Given the description of an element on the screen output the (x, y) to click on. 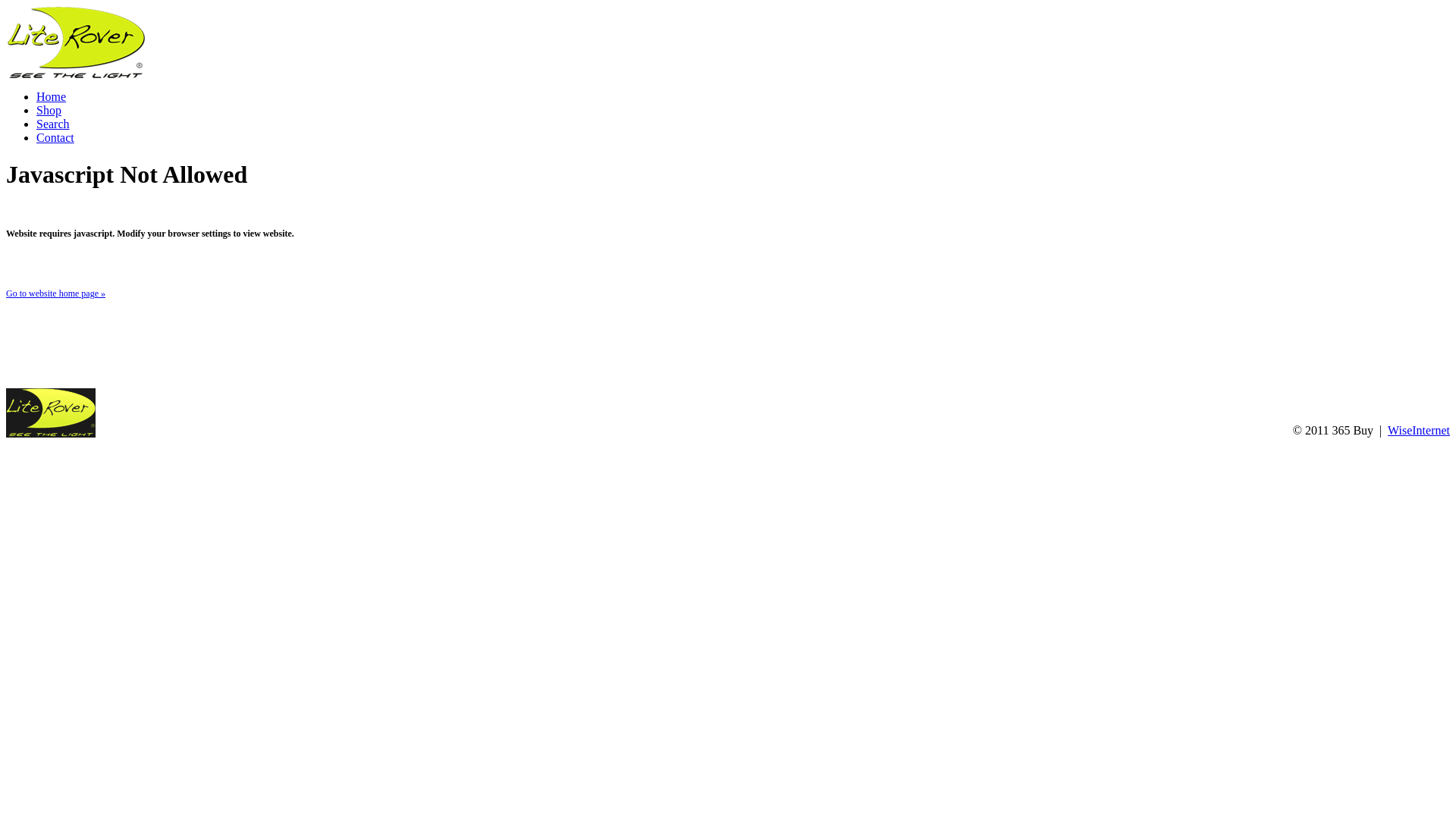
365 Buy Element type: hover (50, 432)
WiseInternet Element type: text (1418, 429)
Contact Element type: text (55, 137)
Shop Element type: text (48, 109)
Search Element type: text (52, 123)
Home Element type: text (50, 96)
365 Buy Element type: hover (50, 412)
